Given the description of an element on the screen output the (x, y) to click on. 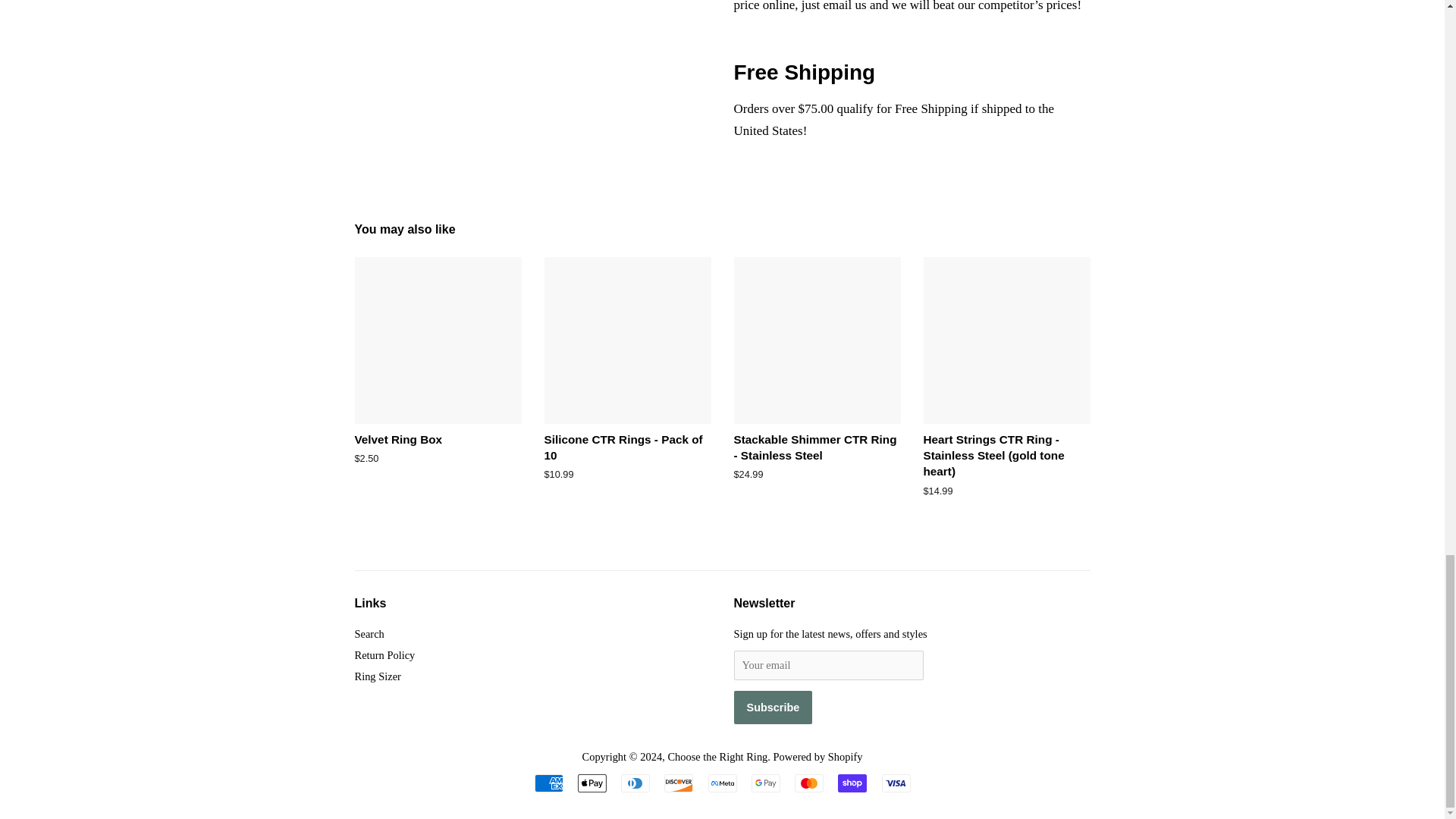
Subscribe (772, 707)
Visa (895, 782)
Discover (678, 782)
Google Pay (765, 782)
Mastercard (809, 782)
Diners Club (635, 782)
Meta Pay (721, 782)
Apple Pay (592, 782)
American Express (548, 782)
Shop Pay (852, 782)
